Given the description of an element on the screen output the (x, y) to click on. 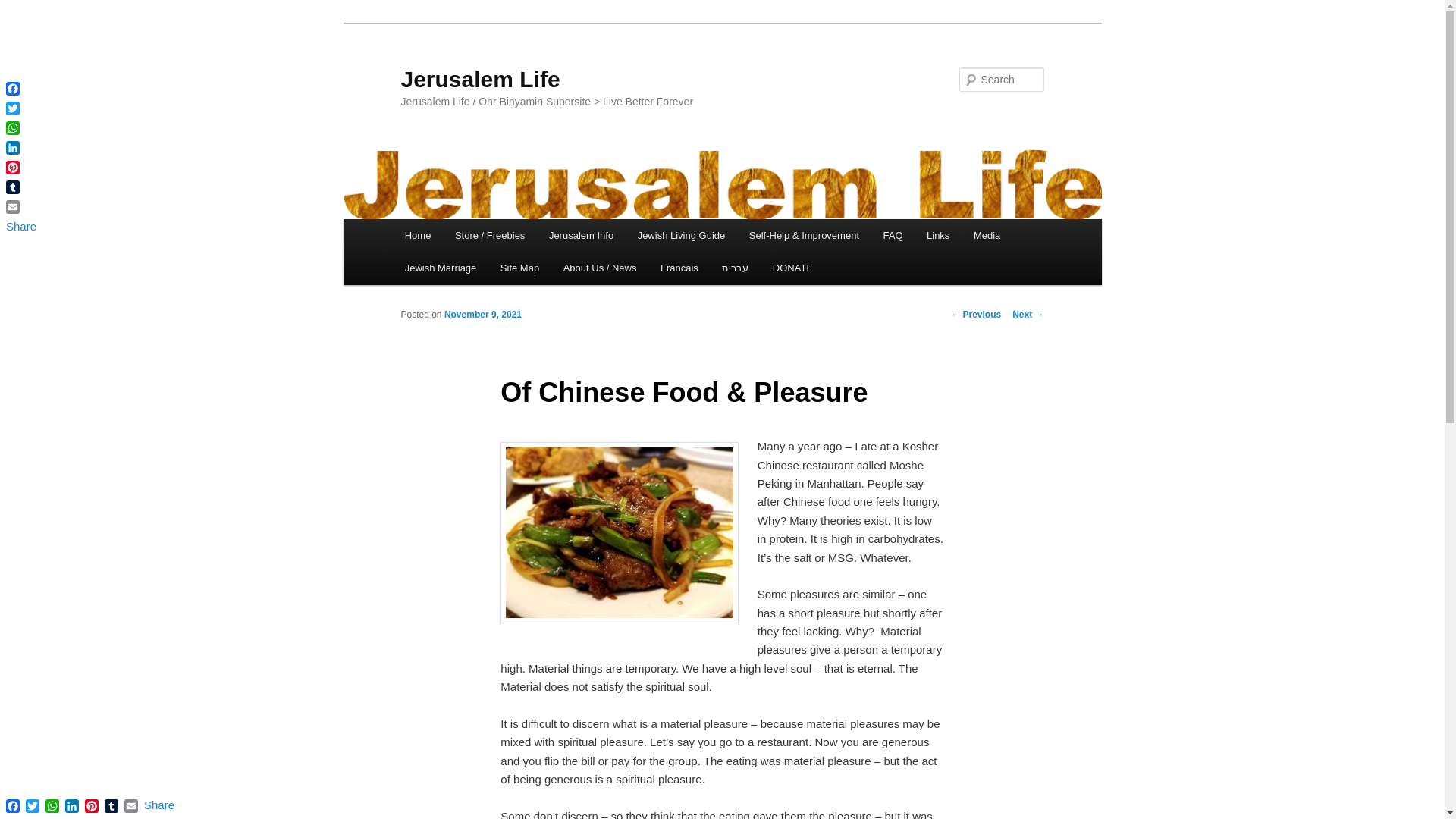
FAQ (892, 235)
Jewish Living Guide (681, 235)
Home (417, 235)
Search (24, 8)
Facebook (12, 805)
Jerusalem Info (581, 235)
6:43 pm (482, 314)
Jerusalem Life (479, 78)
WhatsApp (20, 127)
Pinterest (20, 167)
